Given the description of an element on the screen output the (x, y) to click on. 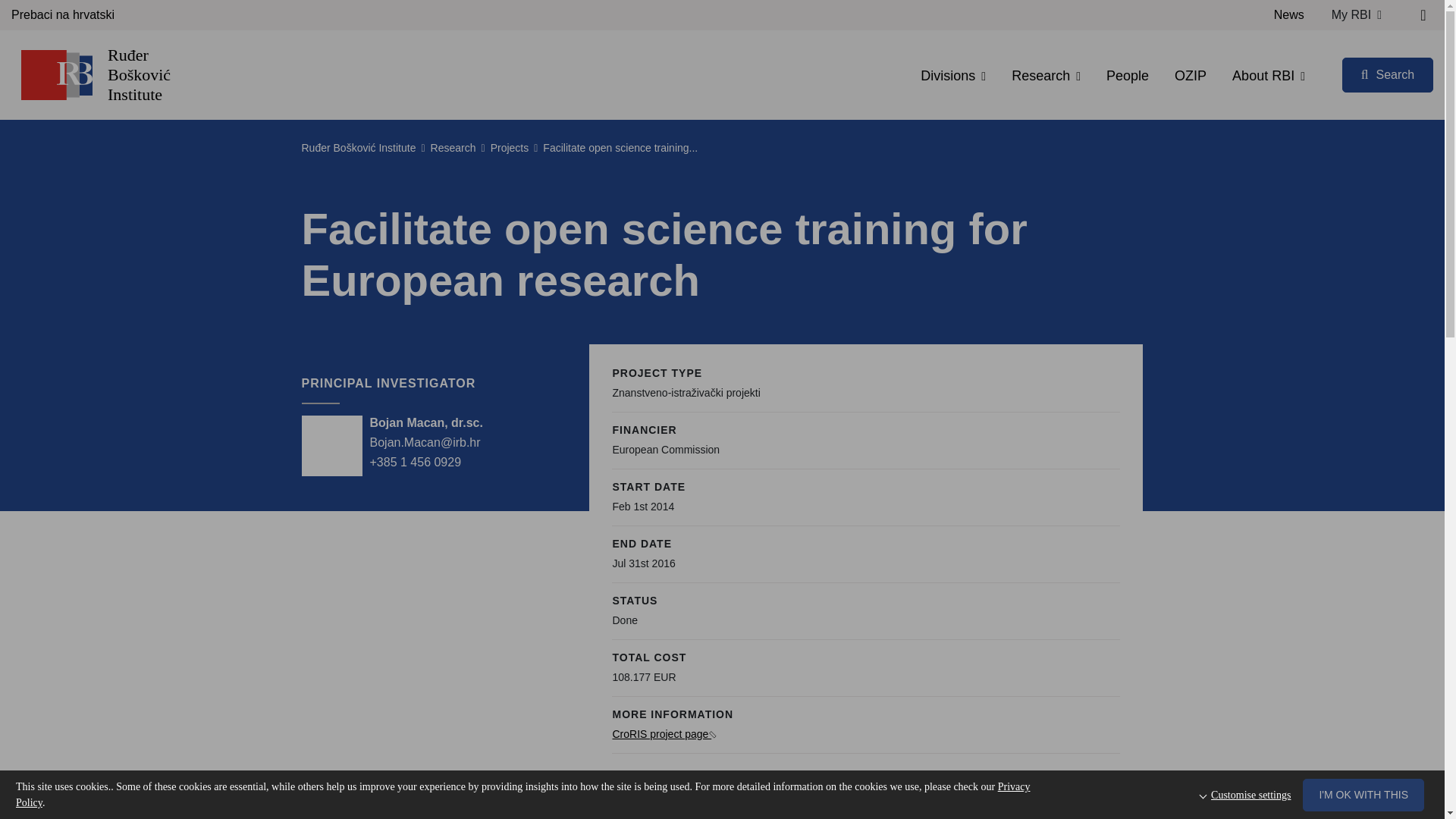
News (1289, 14)
Prebaci na hrvatski (63, 15)
Back to home page (56, 74)
Prebaci na hrvatski (63, 15)
OZIP (1190, 75)
Search (1387, 74)
People (1127, 75)
